Given the description of an element on the screen output the (x, y) to click on. 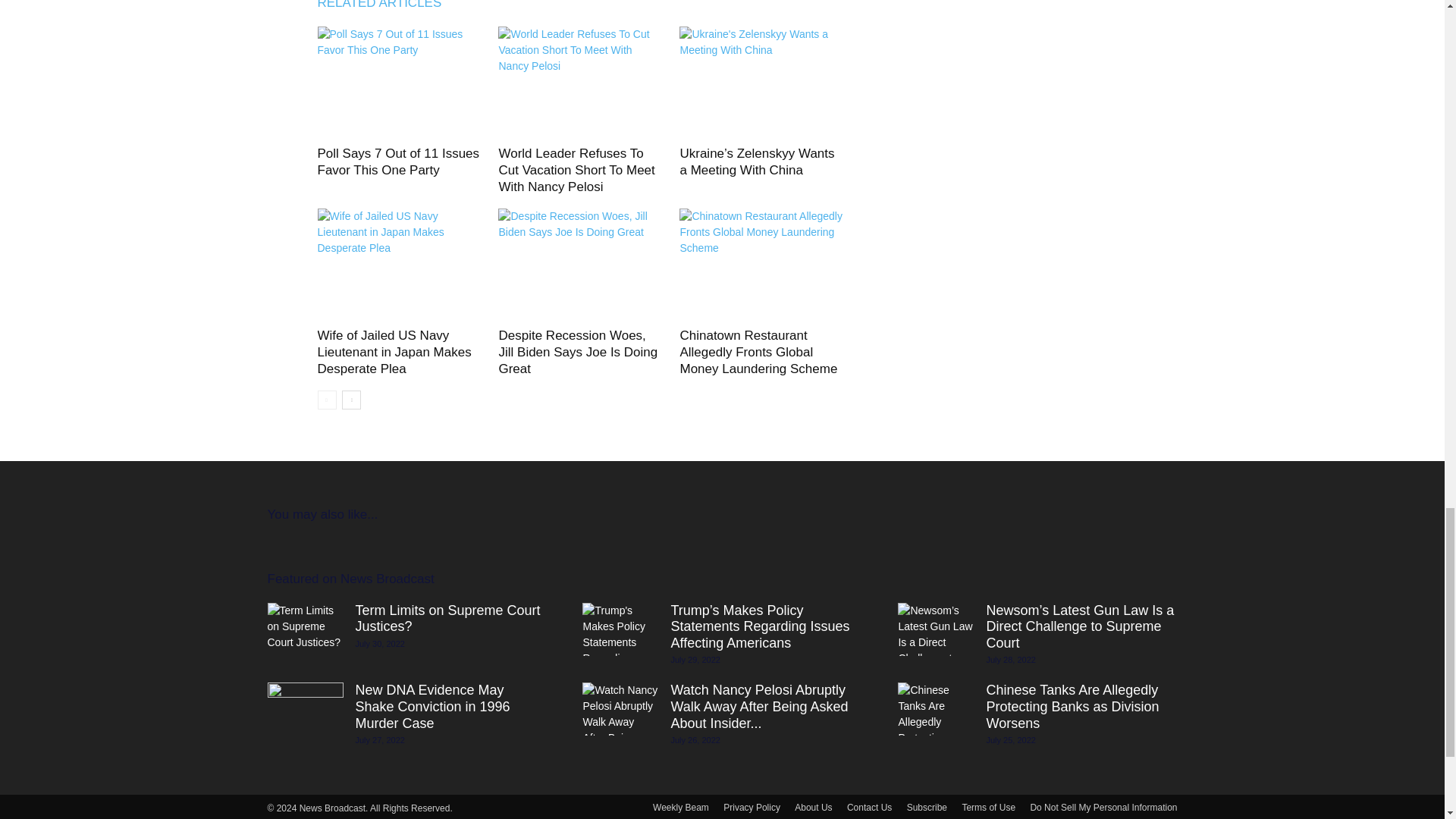
Despite Recession Woes, Jill Biden Says Joe Is Doing Great (577, 351)
Poll Says 7 Out of 11 Issues Favor This One Party (398, 161)
RELATED ARTICLES (387, 7)
Poll Says 7 Out of 11 Issues Favor This One Party (398, 161)
Despite Recession Woes, Jill Biden Says Joe Is Doing Great (580, 265)
Poll Says 7 Out of 11 Issues Favor This One Party (399, 83)
